Given the description of an element on the screen output the (x, y) to click on. 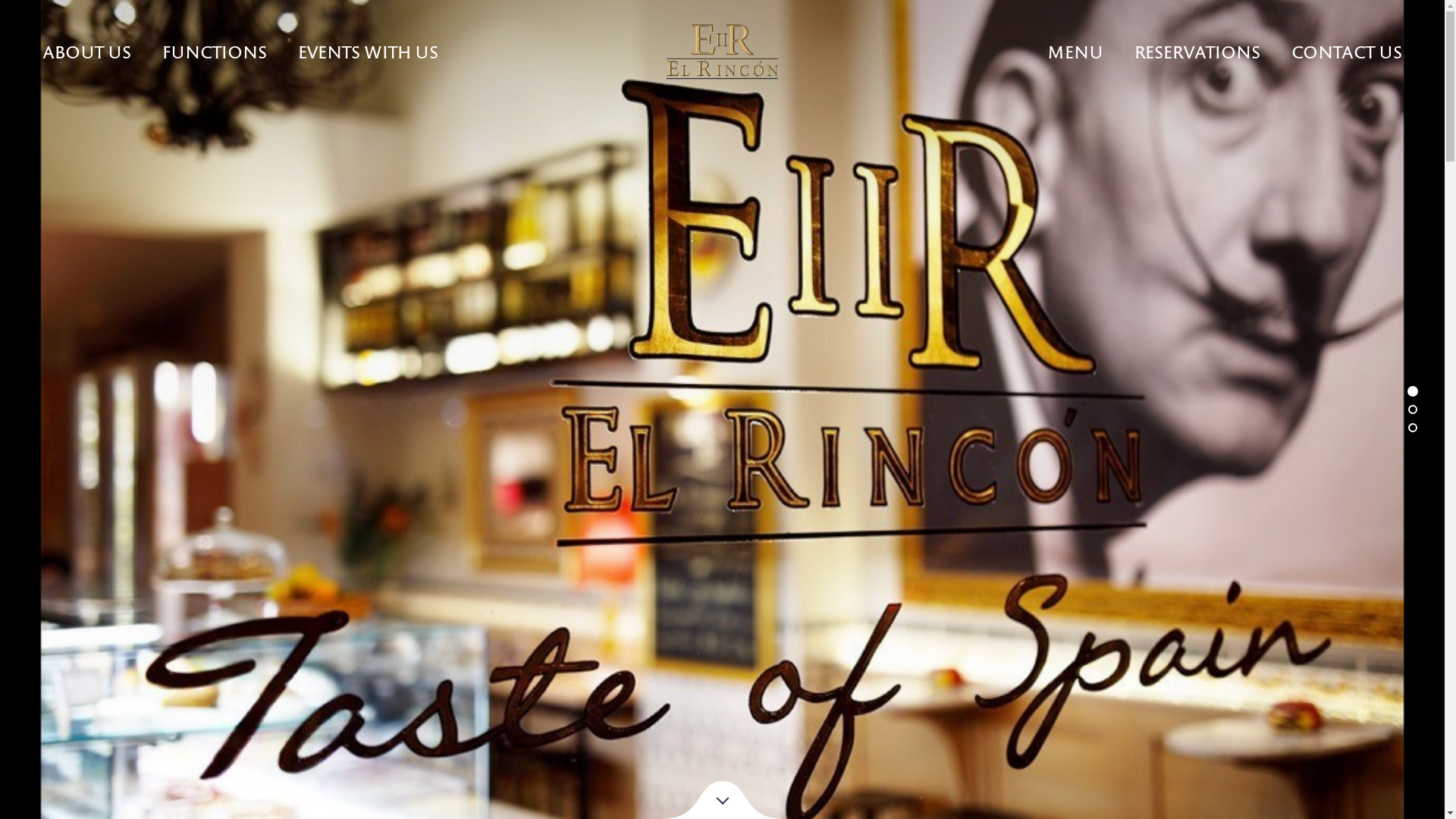
EVENTS WITH US Element type: text (368, 47)
ABOUT US Element type: text (86, 47)
FUNCTIONS Element type: text (214, 47)
RESERVATIONS Element type: text (1197, 47)
CONTACT US Element type: text (1346, 47)
MENU Element type: text (1075, 47)
